Given the description of an element on the screen output the (x, y) to click on. 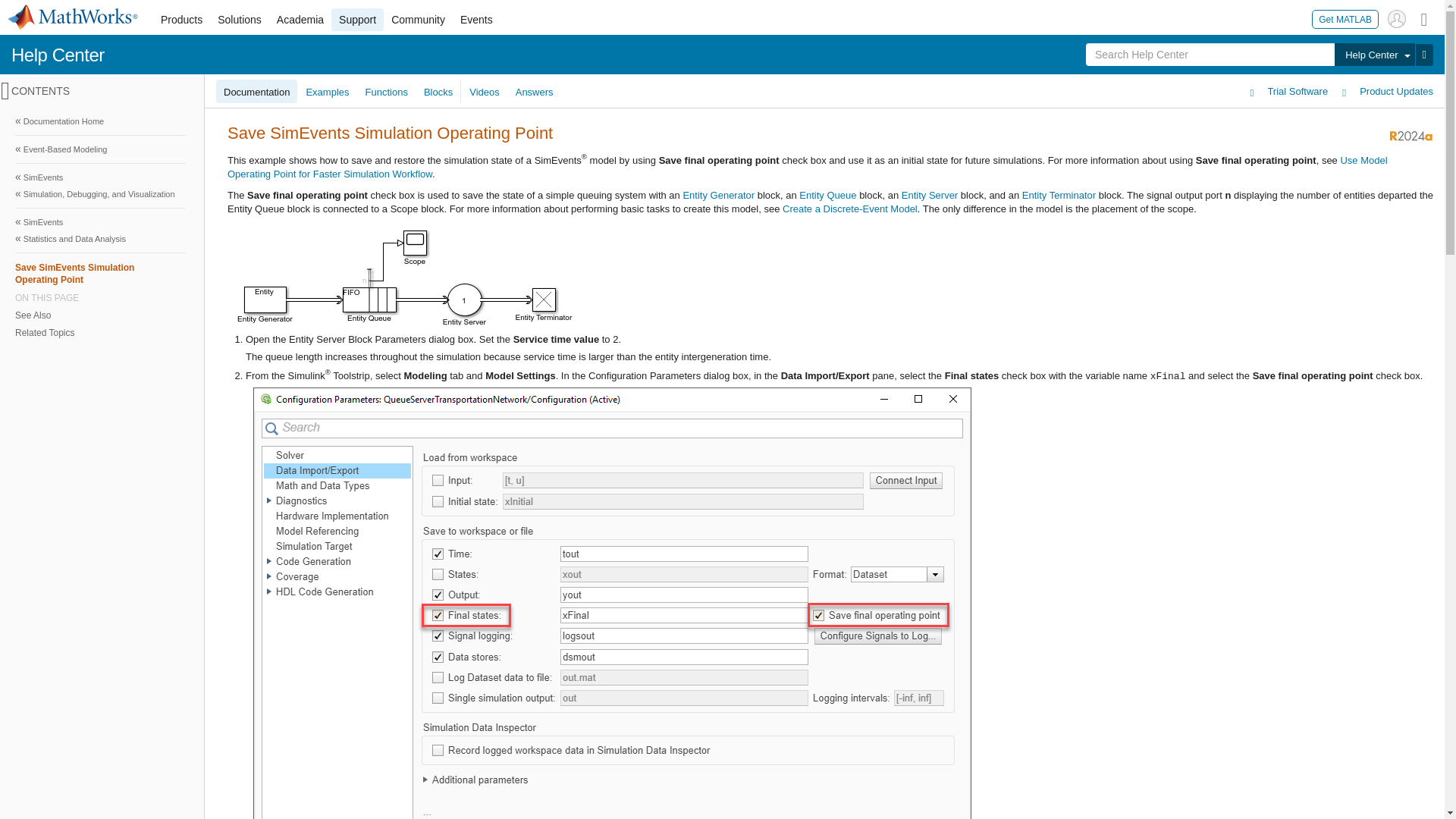
Sign In to Your MathWorks Account (1396, 18)
Support (357, 19)
Save SimEvents Simulation Operating Point (100, 273)
Get MATLAB (1344, 18)
Events (476, 19)
Solutions (239, 19)
Matrix Menu (1423, 18)
Community (418, 19)
Academia (300, 19)
ON THIS PAGE (100, 297)
